Given the description of an element on the screen output the (x, y) to click on. 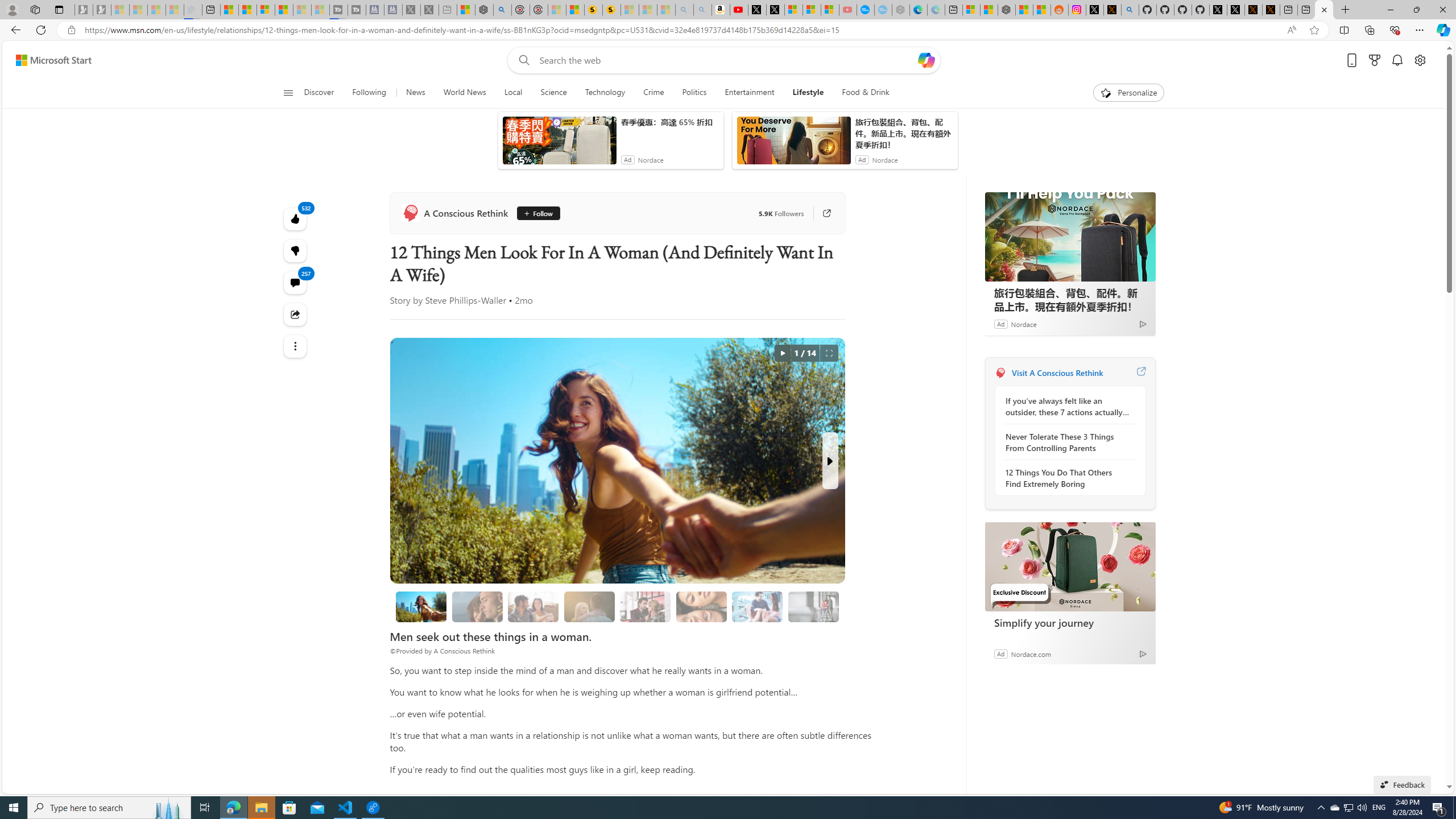
292 Like (654, 327)
Microsoft Start Sports (529, 126)
Profile / X (1200, 9)
Opinion: Op-Ed and Commentary - USA TODAY (847, 9)
AutomationID: backgroundImagePicture (723, 426)
App bar (728, 29)
Page settings (1420, 78)
3 Like (301, 327)
Shanghai, China Weather trends | Microsoft Weather (1024, 9)
AutomationID: tab-21 (470, 328)
